Given the description of an element on the screen output the (x, y) to click on. 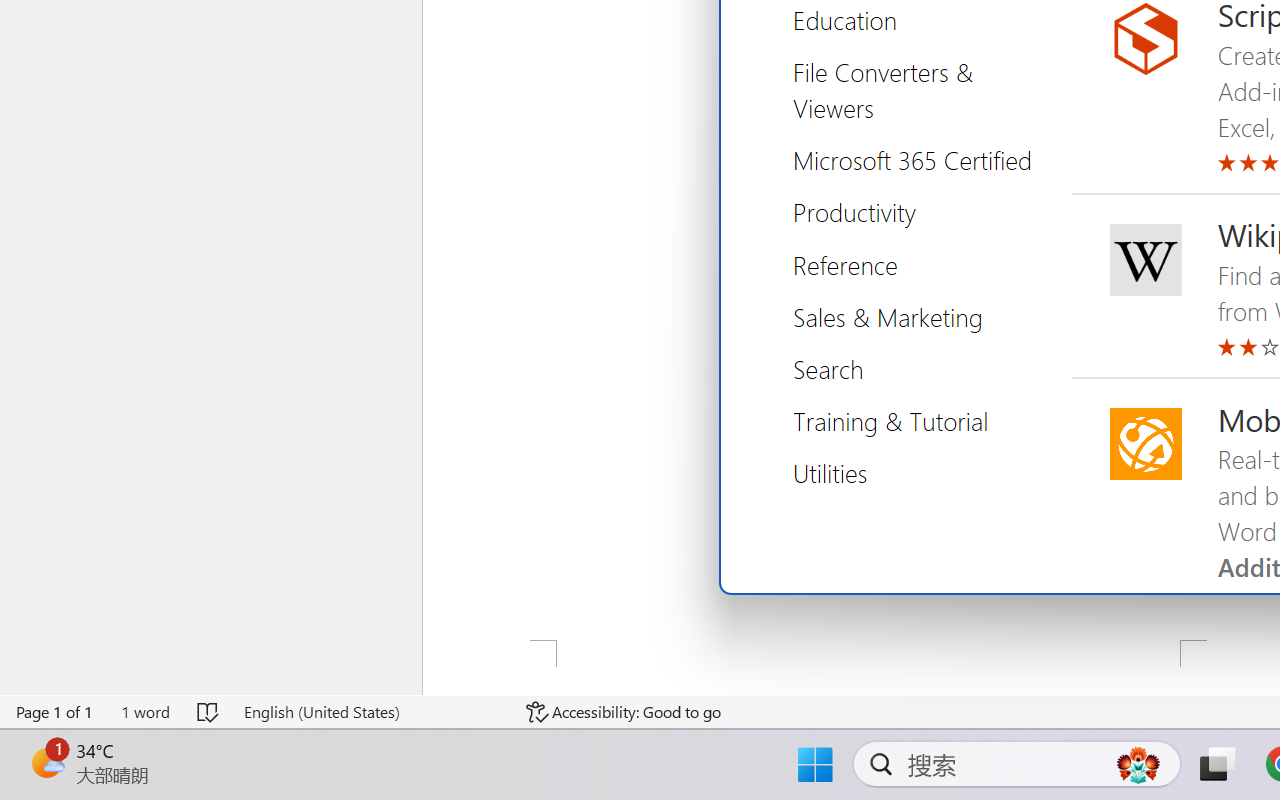
Category Group Training & Tutorial 13 of 14 (898, 420)
Category Group Sales & Marketing 11 of 14 (895, 316)
AutomationID: DynamicSearchBoxGleamImage (1138, 764)
Category Group Microsoft 365 Certified 8 of 14 (920, 160)
Language English (United States) (370, 712)
Category Group Search 12 of 14 (835, 368)
Spelling and Grammar Check No Errors (208, 712)
Word Count 1 word (145, 712)
AutomationID: BadgeAnchorLargeTicker (46, 762)
Mobile Data Collection - Scan-IT to Office icon (1145, 444)
Page Number Page 1 of 1 (55, 712)
Category Group Utilities 14 of 14 (837, 472)
Script Lab, a Microsoft Garage project icon (1145, 39)
Category Group Education 6 of 14 (852, 19)
